Given the description of an element on the screen output the (x, y) to click on. 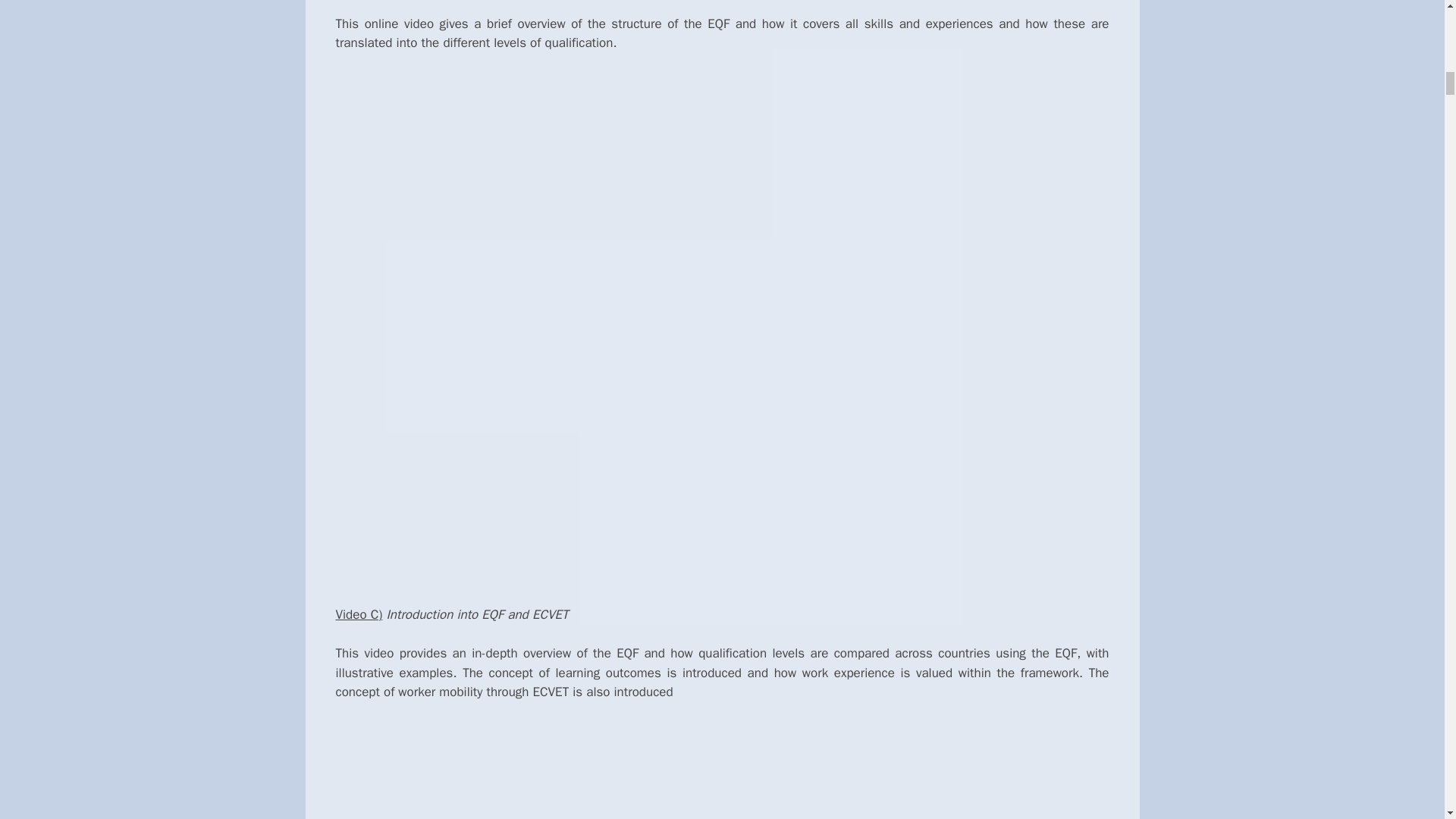
Introduction into EQF and ECVET (721, 770)
